Given the description of an element on the screen output the (x, y) to click on. 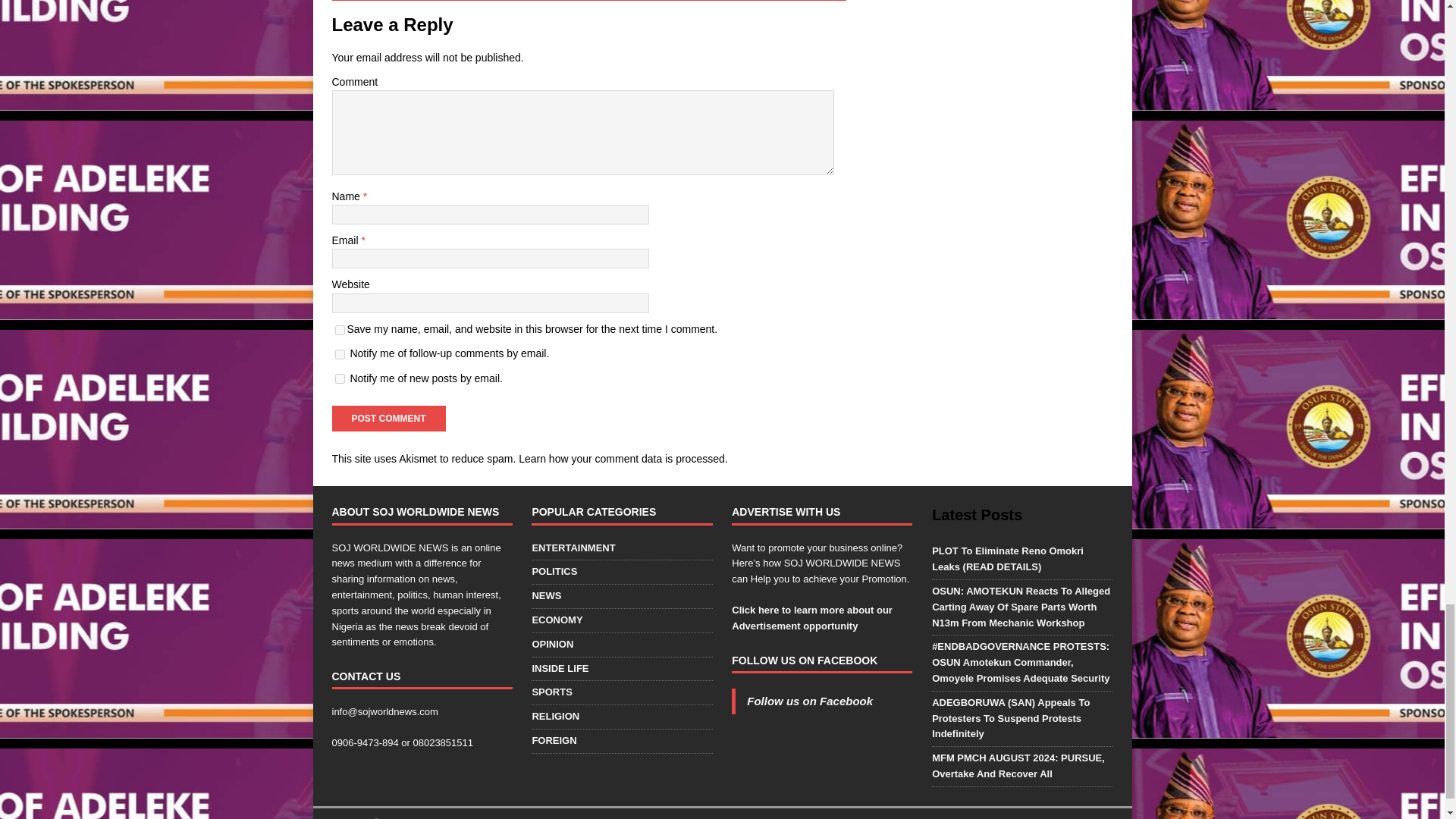
Post Comment (388, 418)
Post Comment (388, 418)
yes (339, 329)
subscribe (339, 378)
subscribe (339, 354)
